Given the description of an element on the screen output the (x, y) to click on. 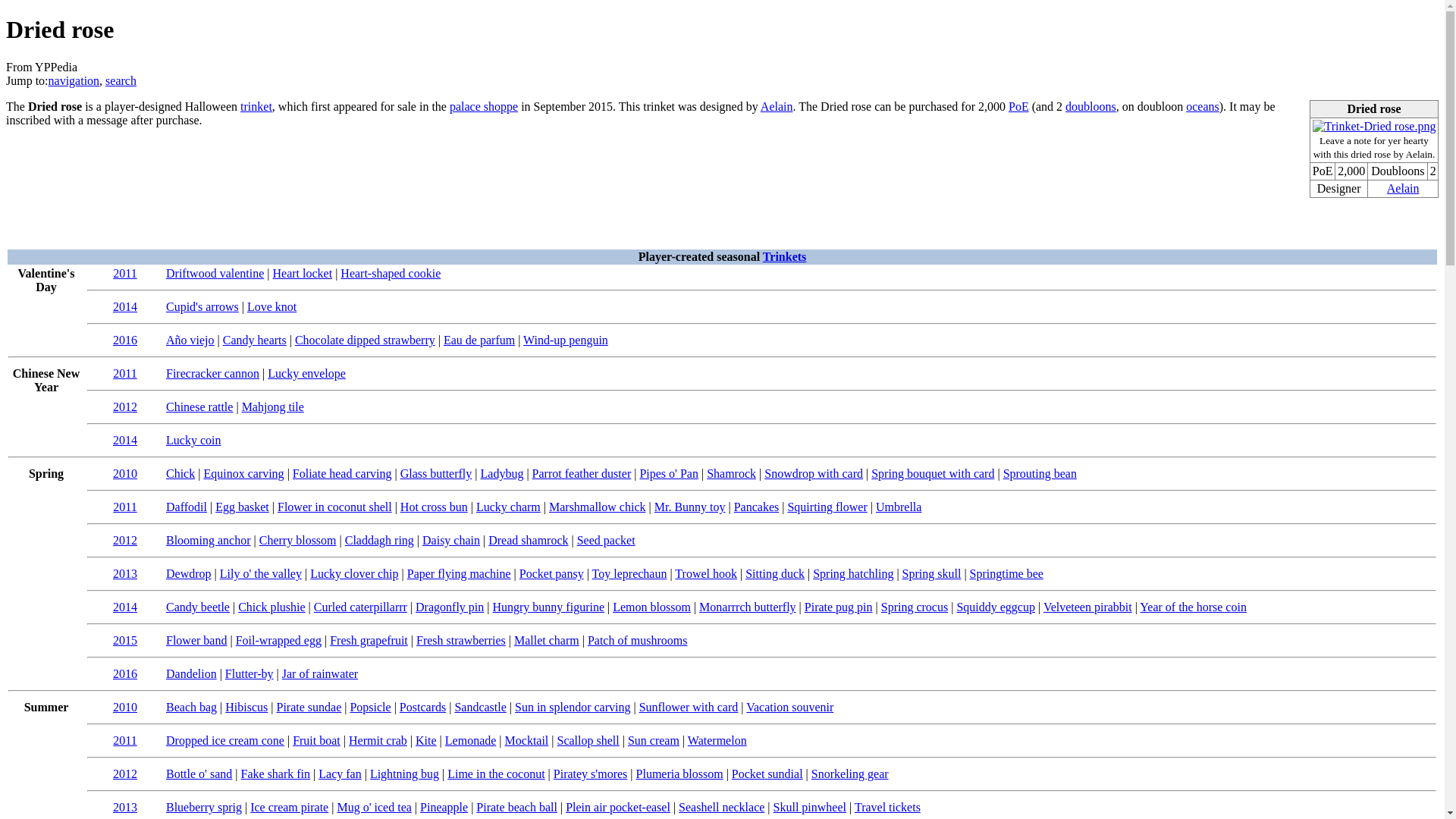
Cupid's arrows (201, 306)
2011 (124, 373)
Driftwood valentine (214, 273)
Cupid's arrows (201, 306)
Love knot (272, 306)
Heart-shaped cookie (390, 273)
PoE (1019, 106)
Heart-shaped cookie (390, 273)
navigation (74, 80)
Ocean (1203, 106)
Aelain (1403, 187)
Candy hearts (254, 339)
2014 (124, 306)
Pieces of eight (1019, 106)
2010 (124, 472)
